Given the description of an element on the screen output the (x, y) to click on. 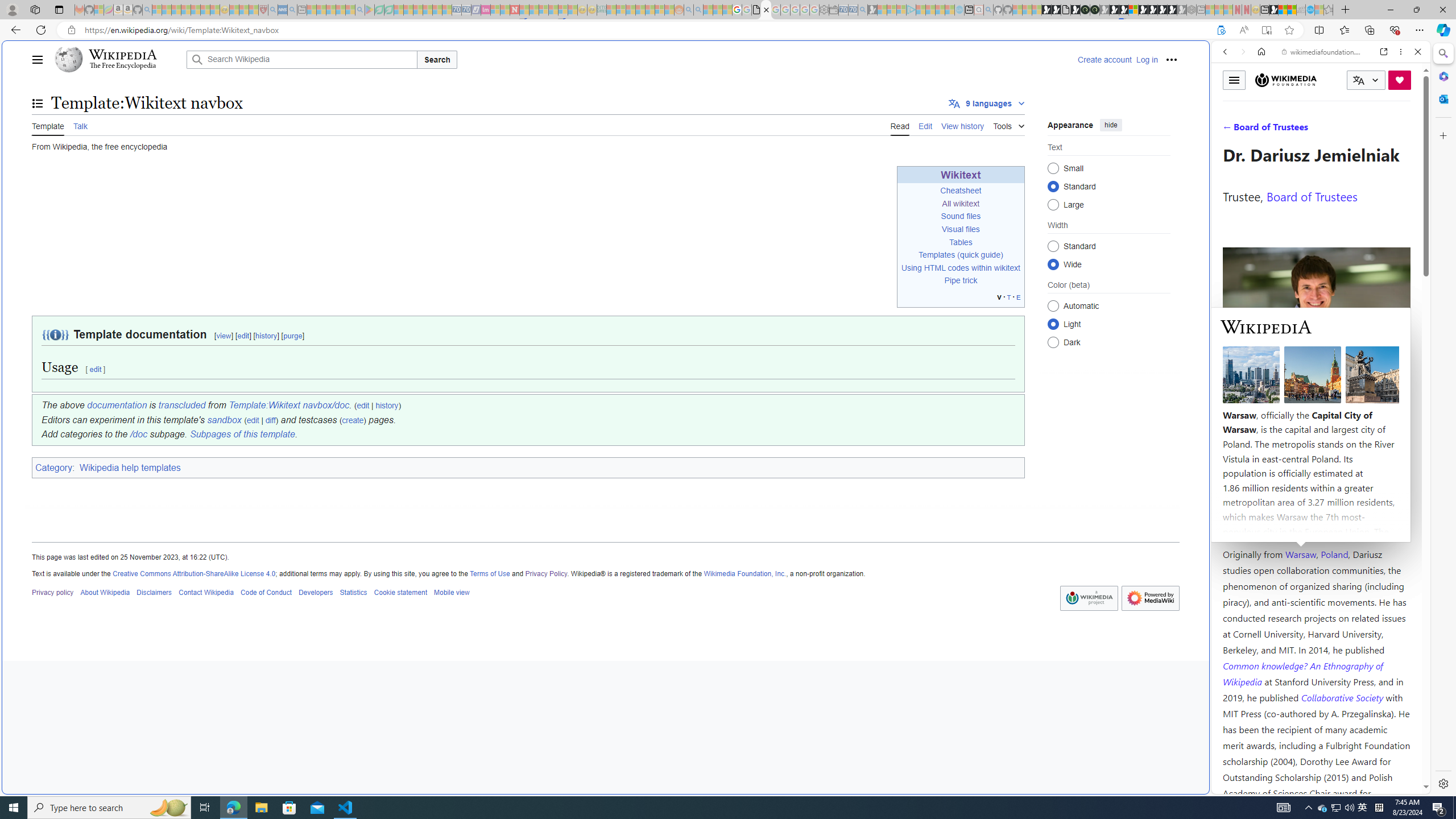
create (353, 420)
Search Wikipedia (301, 59)
Tables (960, 241)
Cheatsheet (960, 190)
e (1018, 297)
Main menu (37, 59)
Privacy Policy (546, 573)
